Given the description of an element on the screen output the (x, y) to click on. 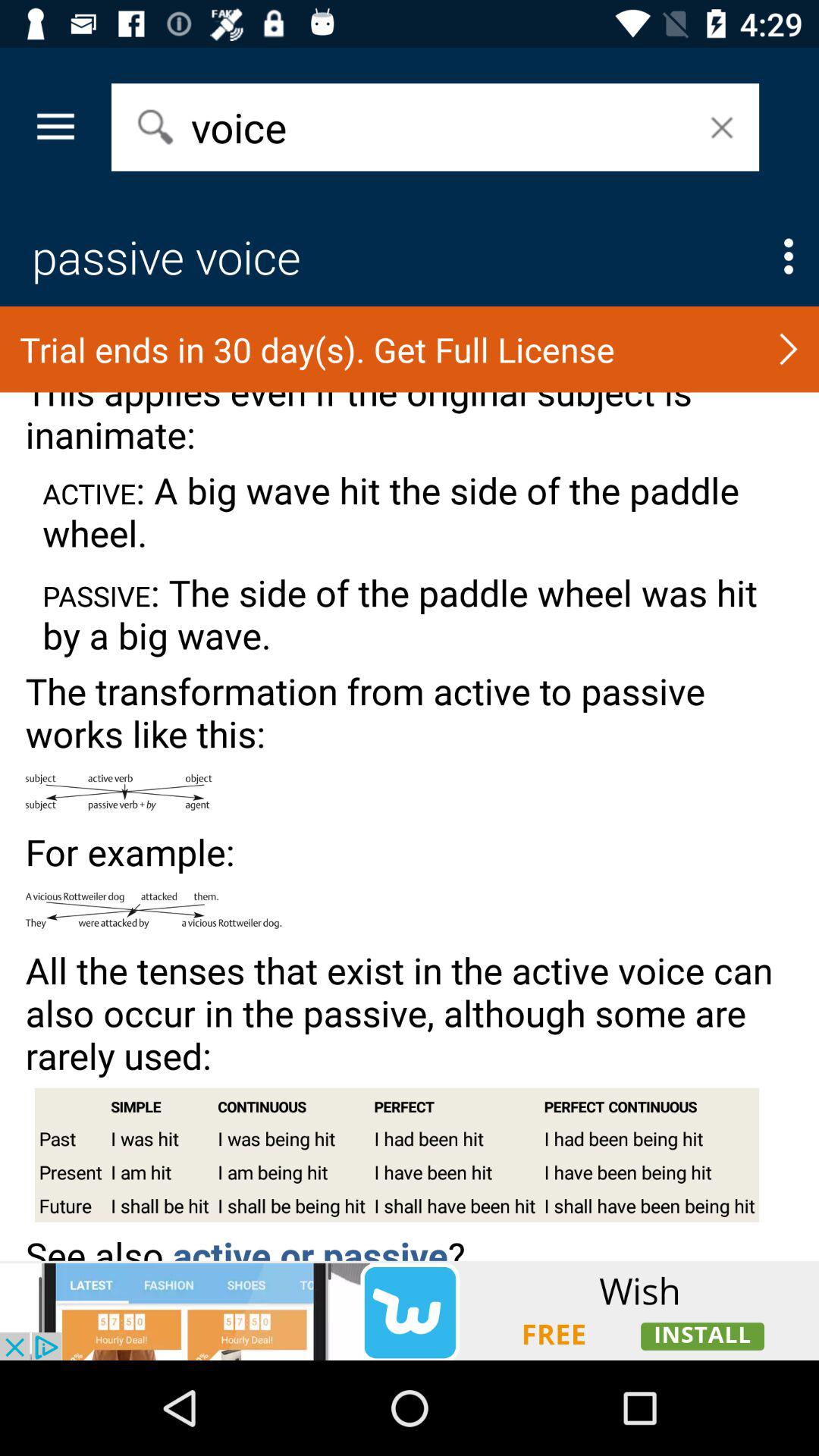
settings (788, 256)
